Given the description of an element on the screen output the (x, y) to click on. 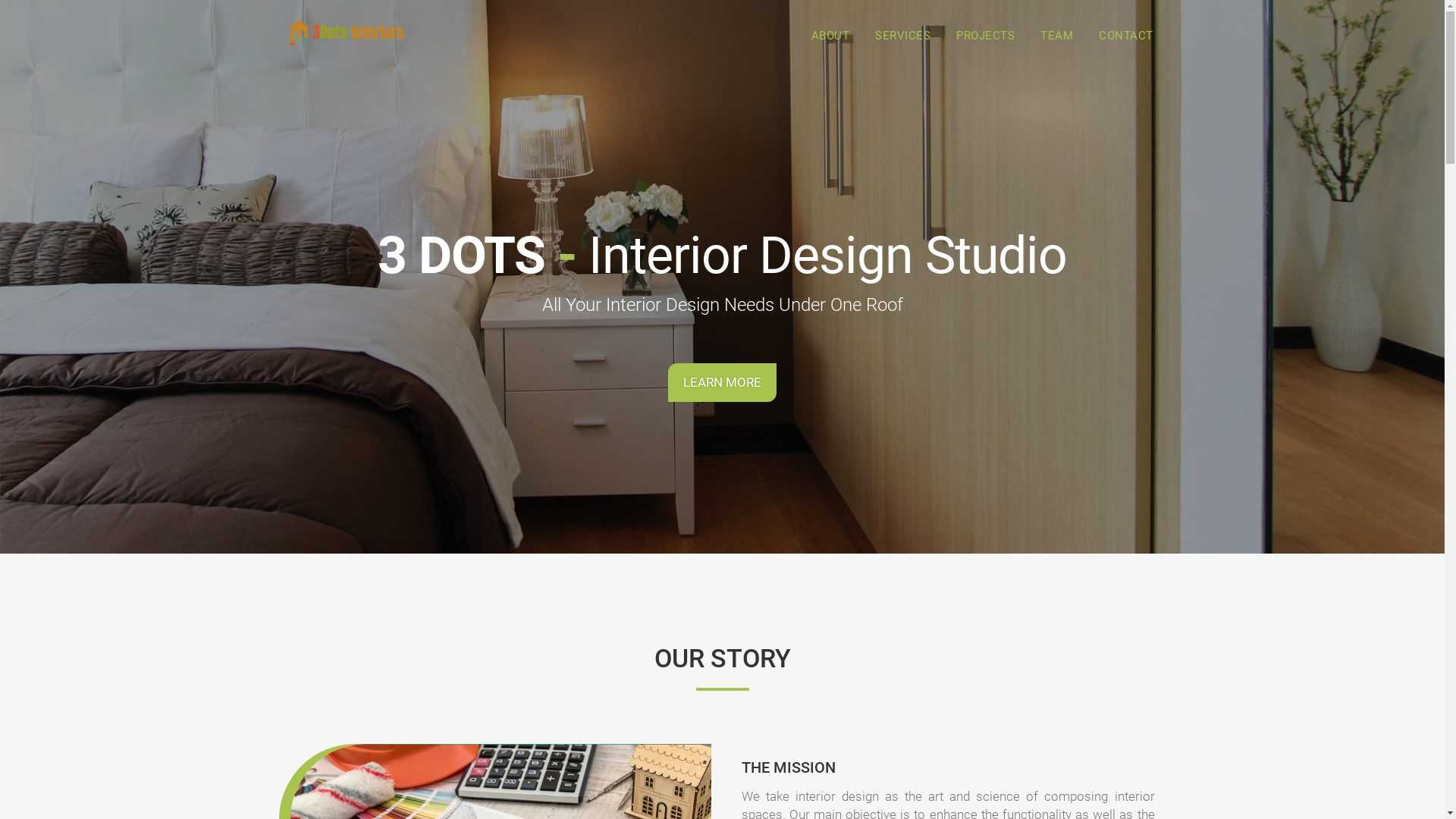
SERVICES Element type: text (902, 35)
TEAM Element type: text (1056, 35)
PROJECTS Element type: text (985, 35)
LEARN MORE Element type: text (722, 382)
CONTACT Element type: text (1125, 35)
ABOUT Element type: text (830, 35)
